Given the description of an element on the screen output the (x, y) to click on. 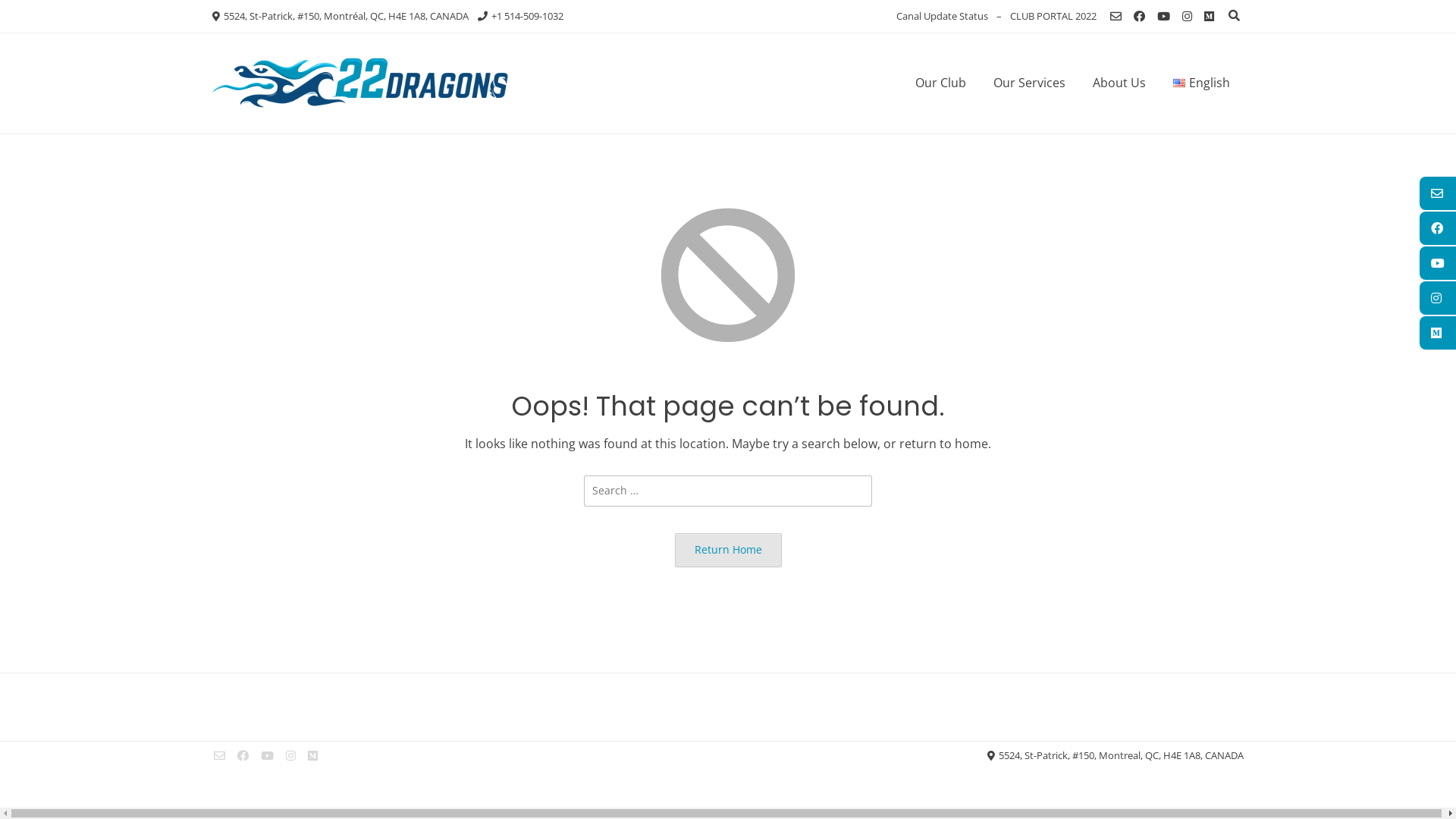
Search Element type: text (27, 13)
Canal Update Status Element type: text (942, 15)
Send Us an Email Element type: hover (1115, 16)
Return Home Element type: text (727, 550)
CLUB PORTAL 2022 Element type: text (1053, 15)
Our Services Element type: text (1029, 81)
View our YouTube Channel Element type: hover (1163, 16)
Our Club Element type: text (940, 81)
Follow Us on Instagram Element type: hover (290, 755)
Send Us an Email Element type: hover (219, 755)
View our YouTube Channel Element type: hover (267, 755)
Find Us on Facebook Element type: hover (1139, 16)
About Us Element type: text (1119, 81)
Find Us on Facebook Element type: hover (242, 755)
Follow Us on Instagram Element type: hover (1186, 16)
English Element type: text (1201, 81)
